Given the description of an element on the screen output the (x, y) to click on. 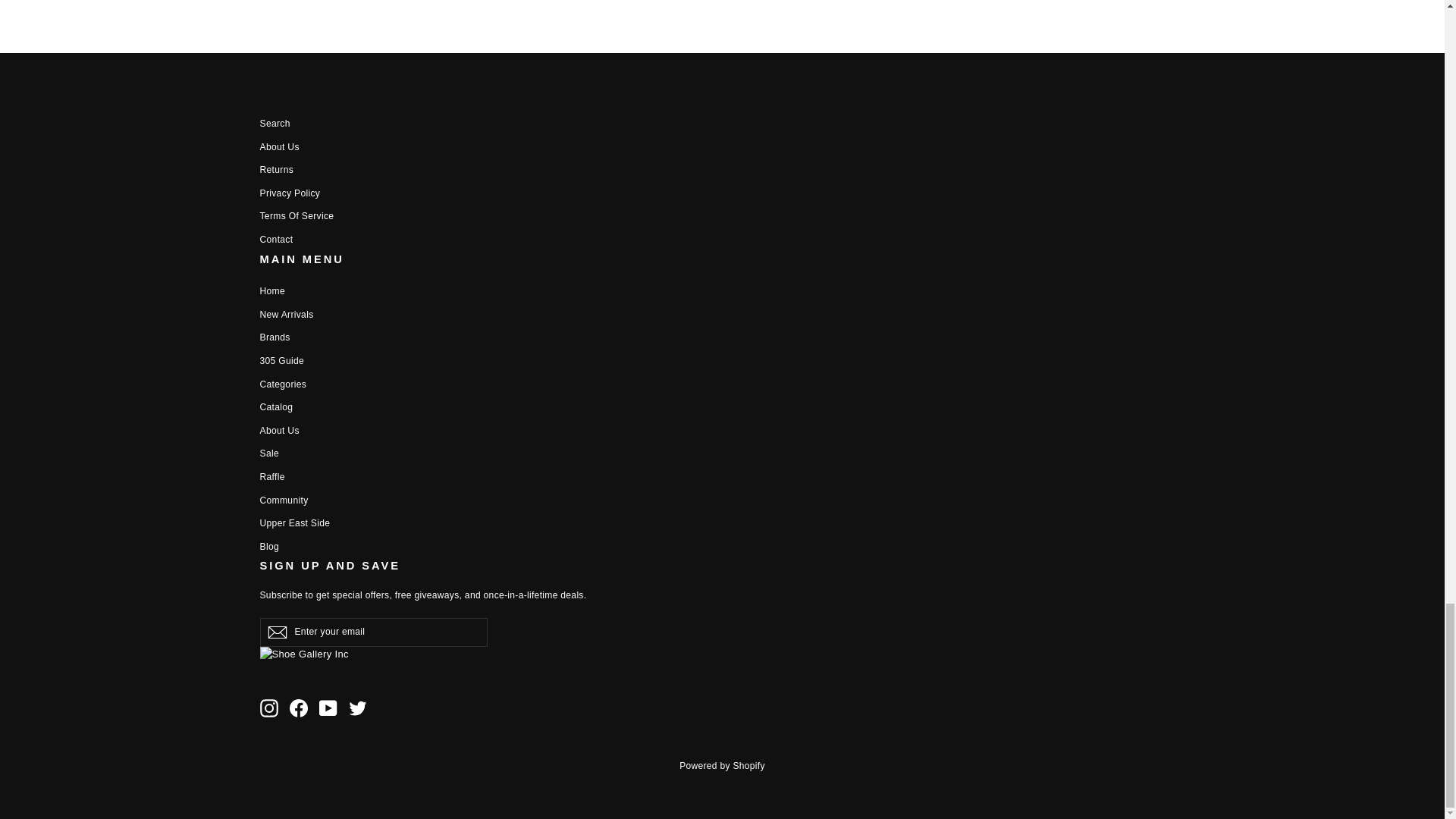
Shoe Gallery Inc on Twitter (357, 708)
Shoe Gallery Inc on Instagram (268, 708)
Shoe Gallery Inc on Facebook (298, 708)
Shoe Gallery Inc on YouTube (327, 708)
